Given the description of an element on the screen output the (x, y) to click on. 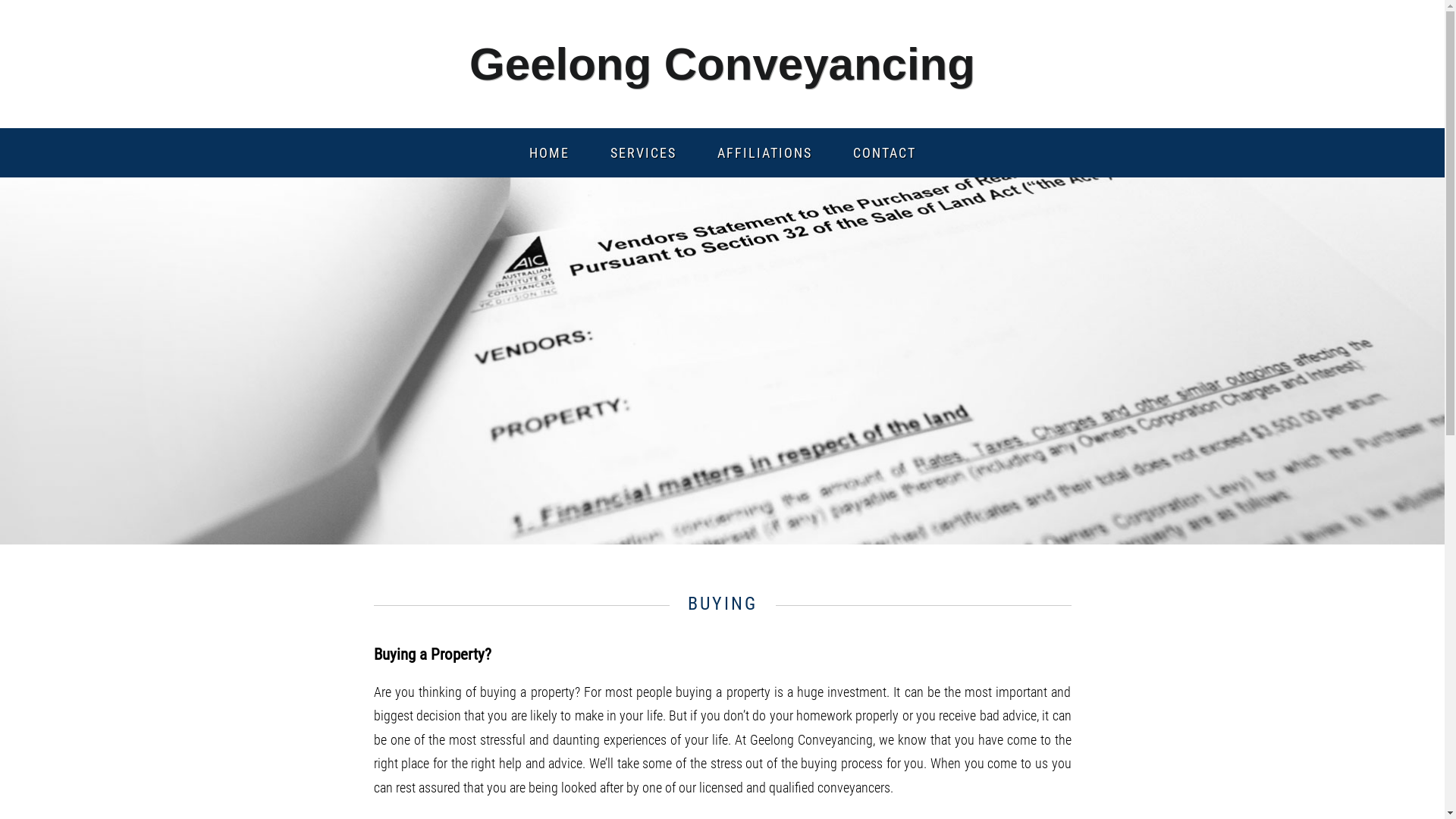
Geelong Conveyancing Element type: text (722, 63)
Buying a Property | Geelong Conveyancing Element type: hover (722, 360)
AFFILIATIONS Element type: text (763, 152)
HOME Element type: text (548, 152)
SERVICES Element type: text (643, 152)
CONTACT Element type: text (884, 152)
